Given the description of an element on the screen output the (x, y) to click on. 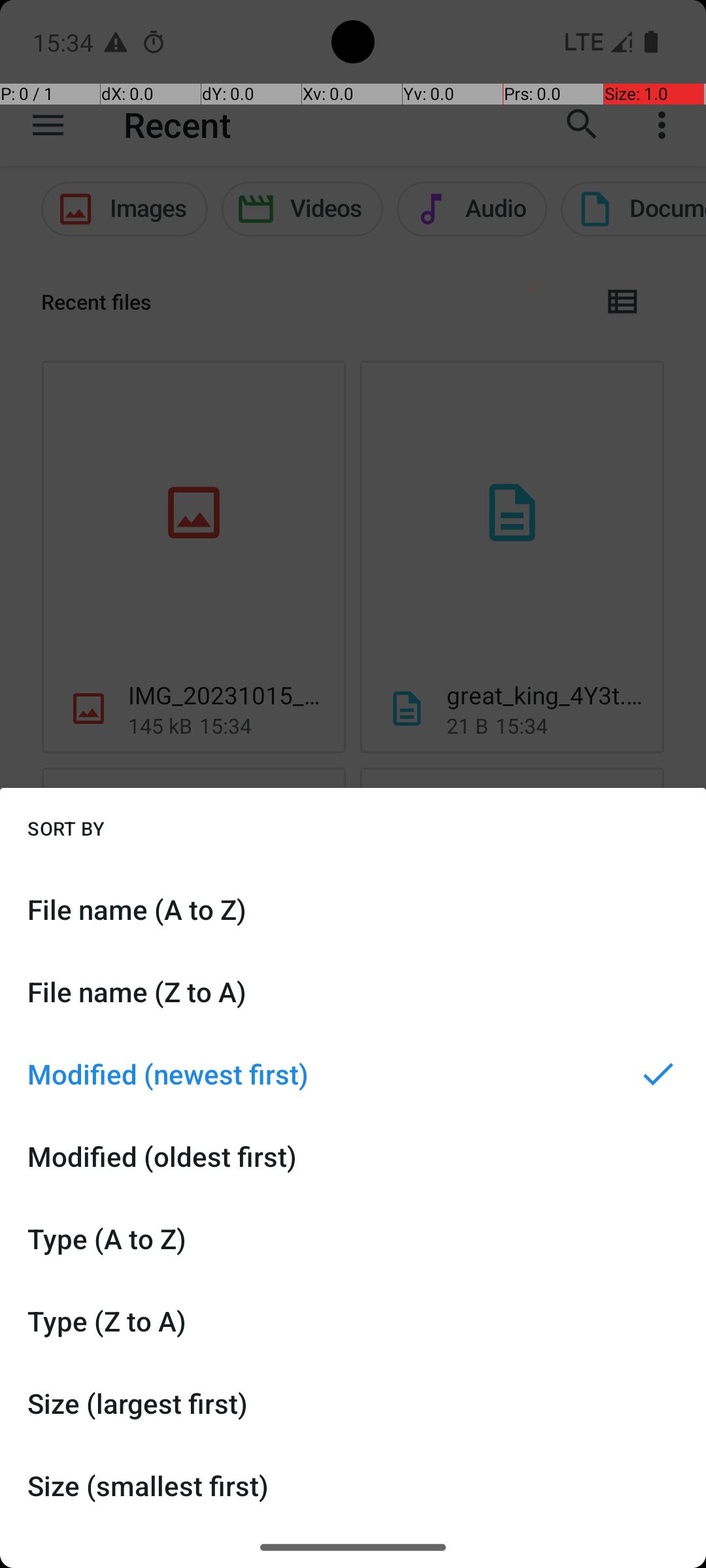
SORT BY Element type: android.widget.TextView (66, 827)
File name (A to Z) Element type: android.widget.CheckedTextView (353, 909)
File name (Z to A) Element type: android.widget.CheckedTextView (353, 991)
Modified (newest first) Element type: android.widget.CheckedTextView (353, 1073)
Modified (oldest first) Element type: android.widget.CheckedTextView (353, 1156)
Type (A to Z) Element type: android.widget.CheckedTextView (353, 1238)
Type (Z to A) Element type: android.widget.CheckedTextView (353, 1320)
Size (largest first) Element type: android.widget.CheckedTextView (353, 1403)
Size (smallest first) Element type: android.widget.CheckedTextView (353, 1485)
